Given the description of an element on the screen output the (x, y) to click on. 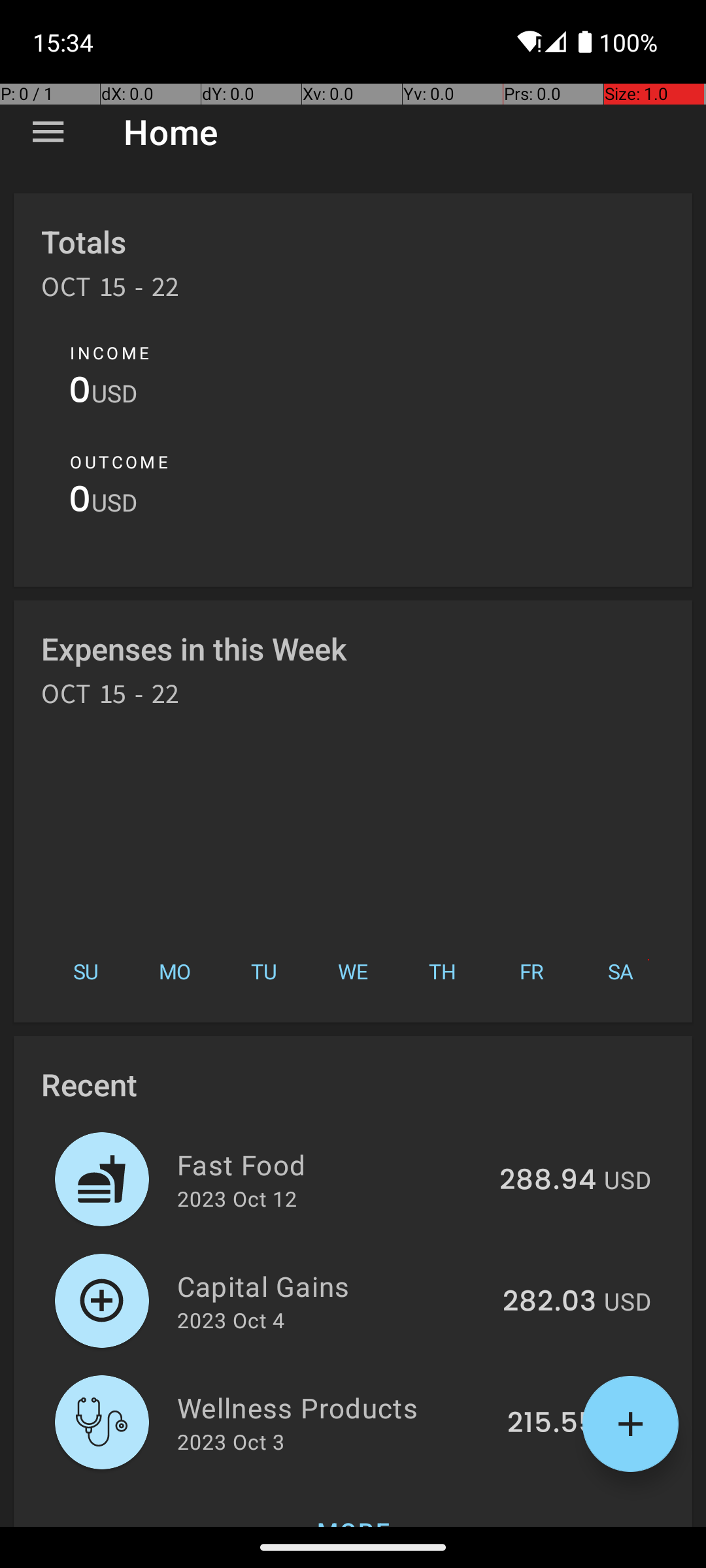
Fast Food Element type: android.widget.TextView (330, 1164)
288.94 Element type: android.widget.TextView (547, 1180)
2023 Oct 4 Element type: android.widget.TextView (230, 1320)
282.03 Element type: android.widget.TextView (549, 1301)
2023 Oct 3 Element type: android.widget.TextView (230, 1441)
215.55 Element type: android.widget.TextView (551, 1423)
